Given the description of an element on the screen output the (x, y) to click on. 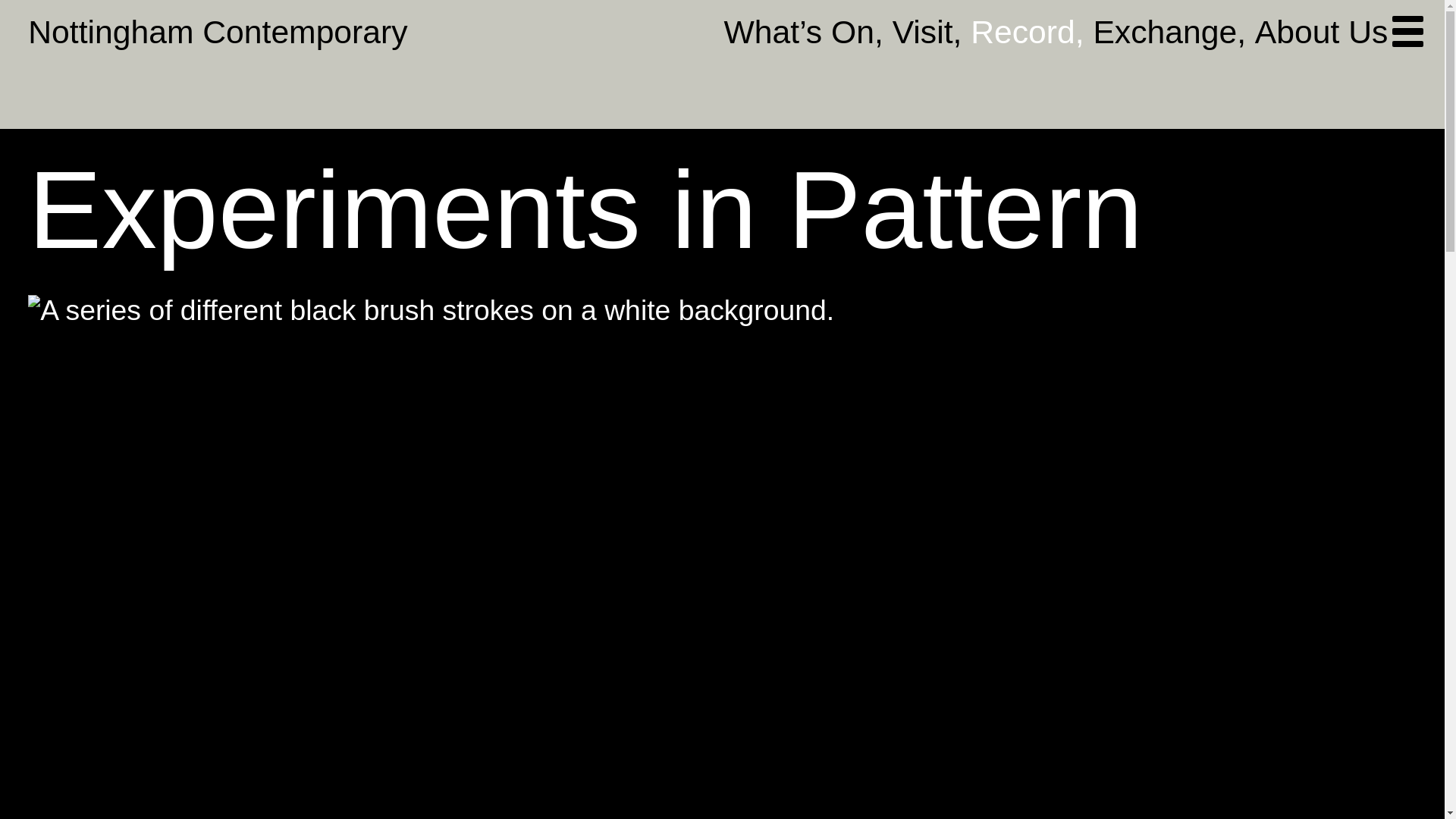
Record,  (1032, 31)
Visit,  (931, 31)
Exchange,  (1173, 31)
About Us (1321, 31)
Nottingham Contemporary (217, 31)
